Given the description of an element on the screen output the (x, y) to click on. 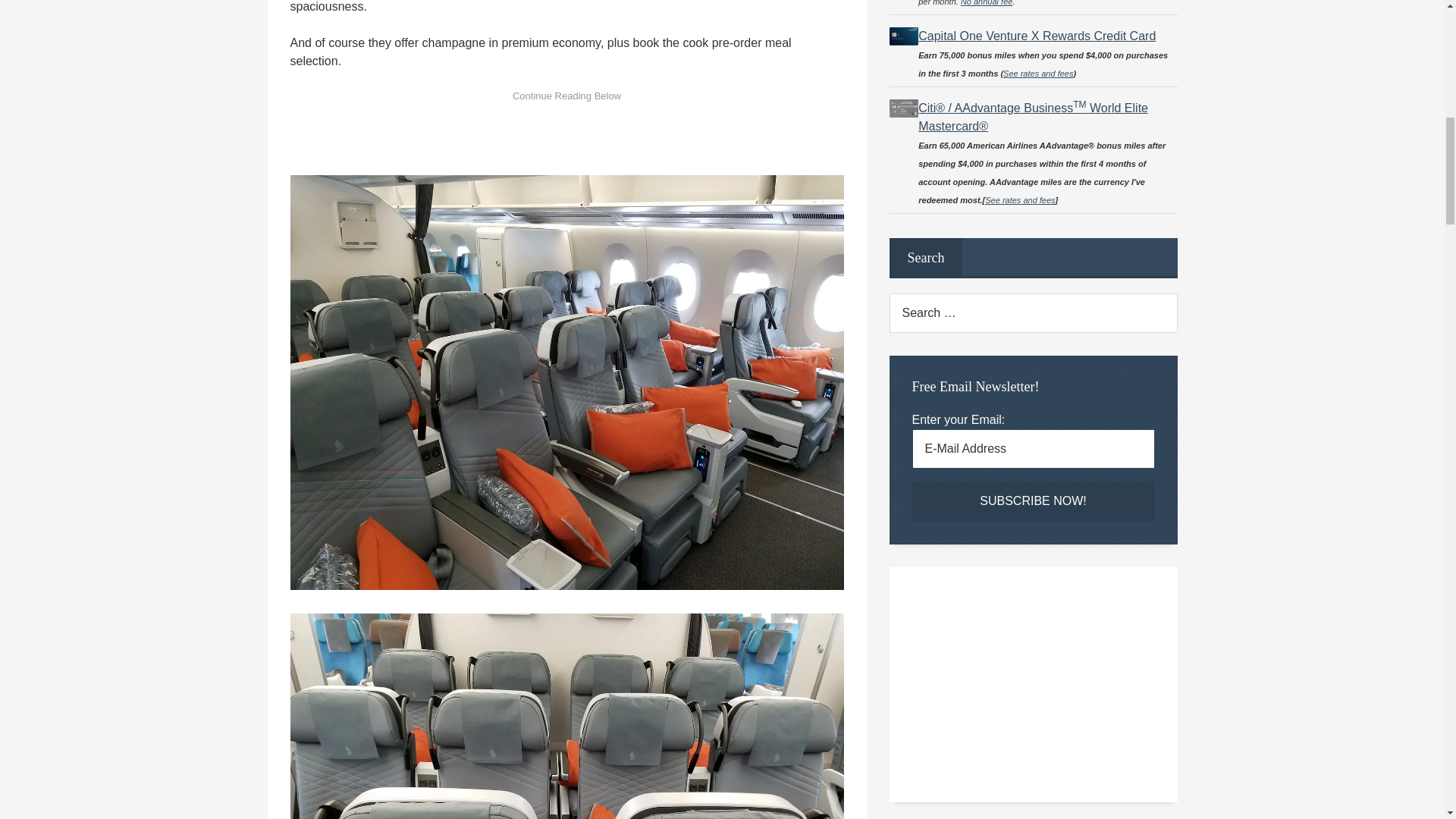
Subscribe Now! (1032, 500)
E-Mail Address (1032, 448)
